Given the description of an element on the screen output the (x, y) to click on. 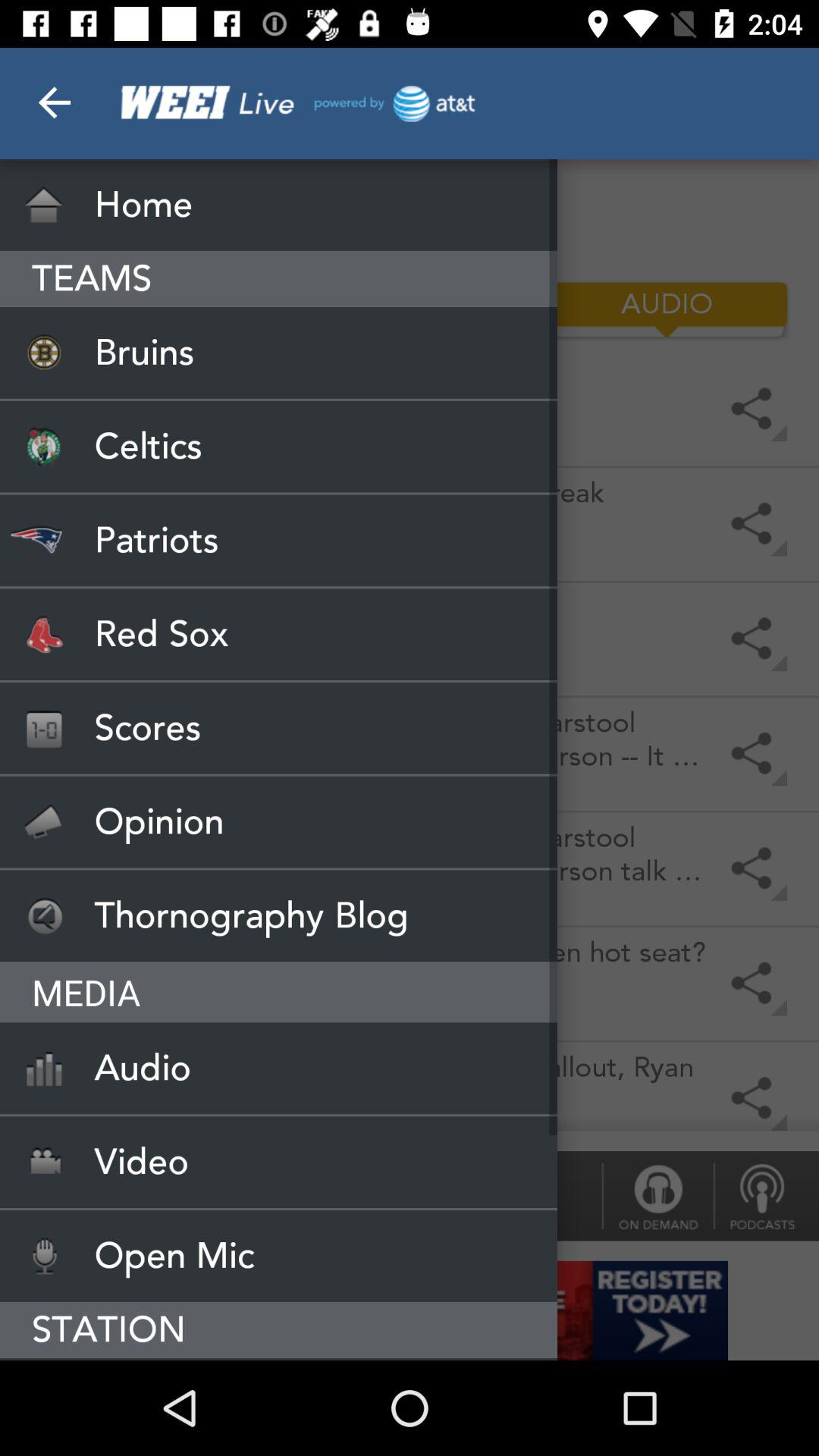
turn on the patriots icon (278, 540)
